Given the description of an element on the screen output the (x, y) to click on. 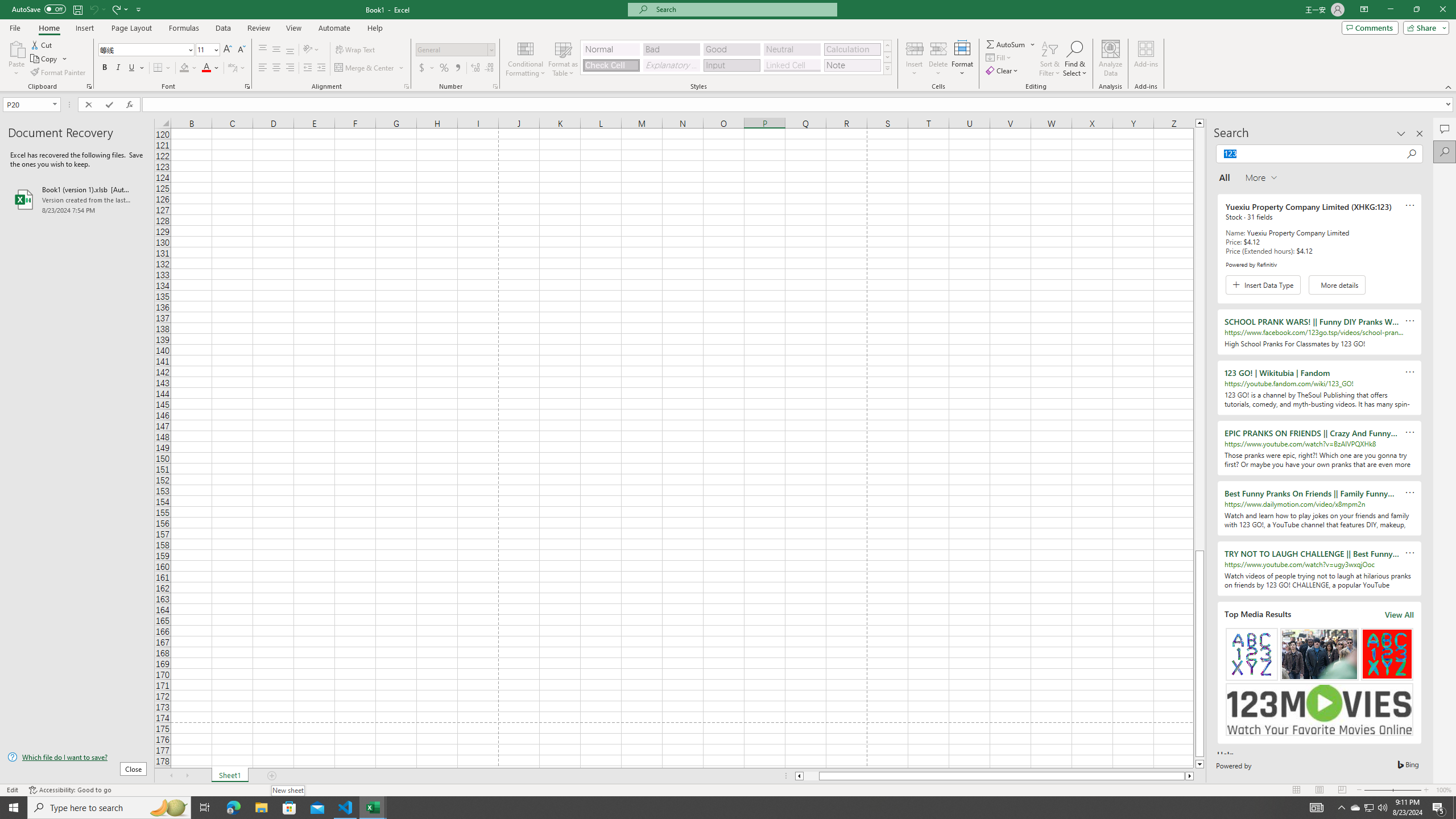
Insert Cells (914, 48)
Linked Cell (791, 65)
Show Phonetic Field (231, 67)
Decrease Indent (307, 67)
Middle Align (276, 49)
AutoSum (1011, 44)
Fill (999, 56)
Align Left (262, 67)
Office Clipboard... (88, 85)
